Given the description of an element on the screen output the (x, y) to click on. 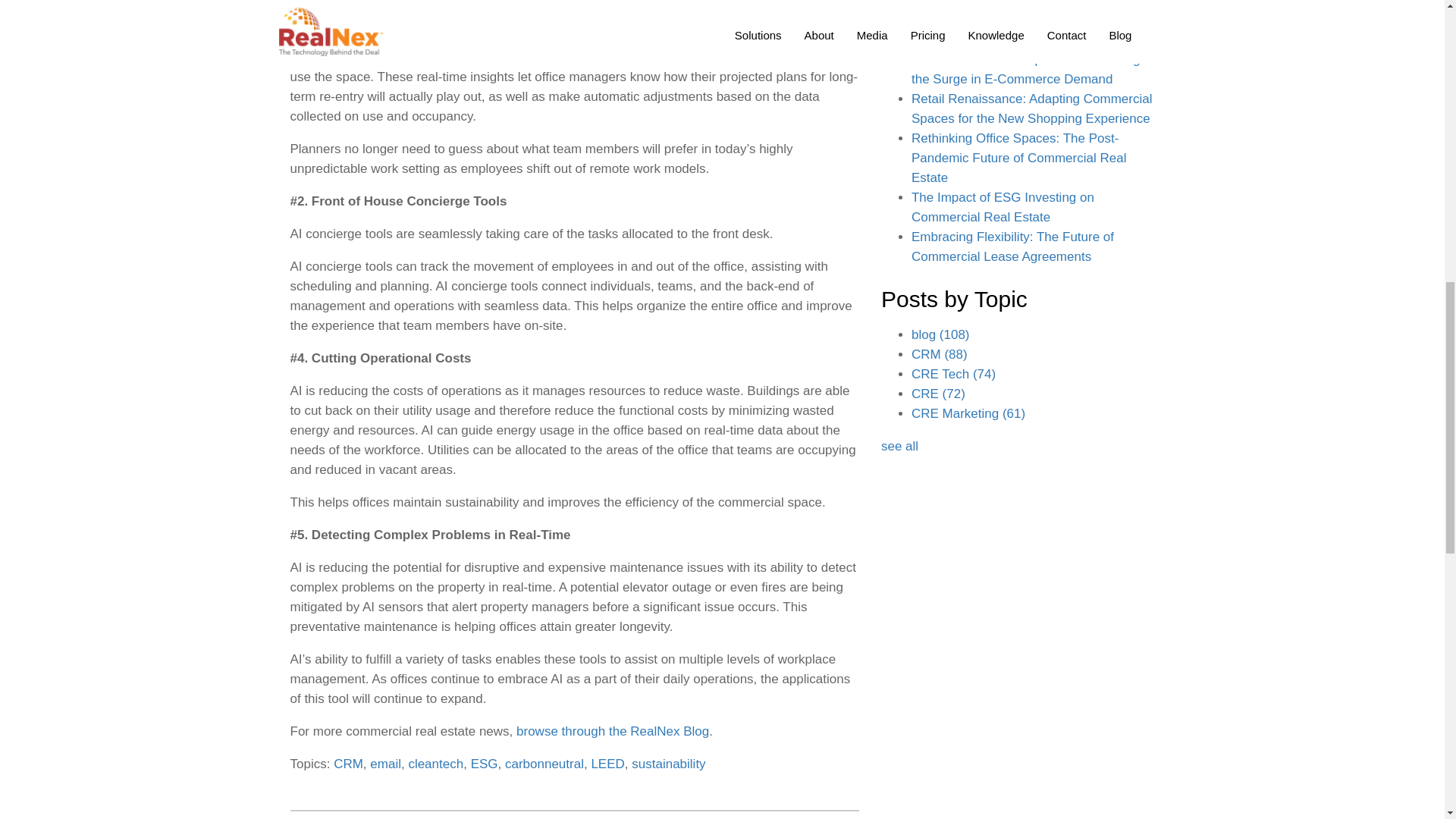
email (385, 763)
cleantech (435, 763)
LEED (607, 763)
sustainability (667, 763)
The Impact of ESG Investing on Commercial Real Estate (1002, 207)
browse through the RealNex Blog (612, 730)
CRM (347, 763)
carbonneutral (544, 763)
ESG (483, 763)
